Given the description of an element on the screen output the (x, y) to click on. 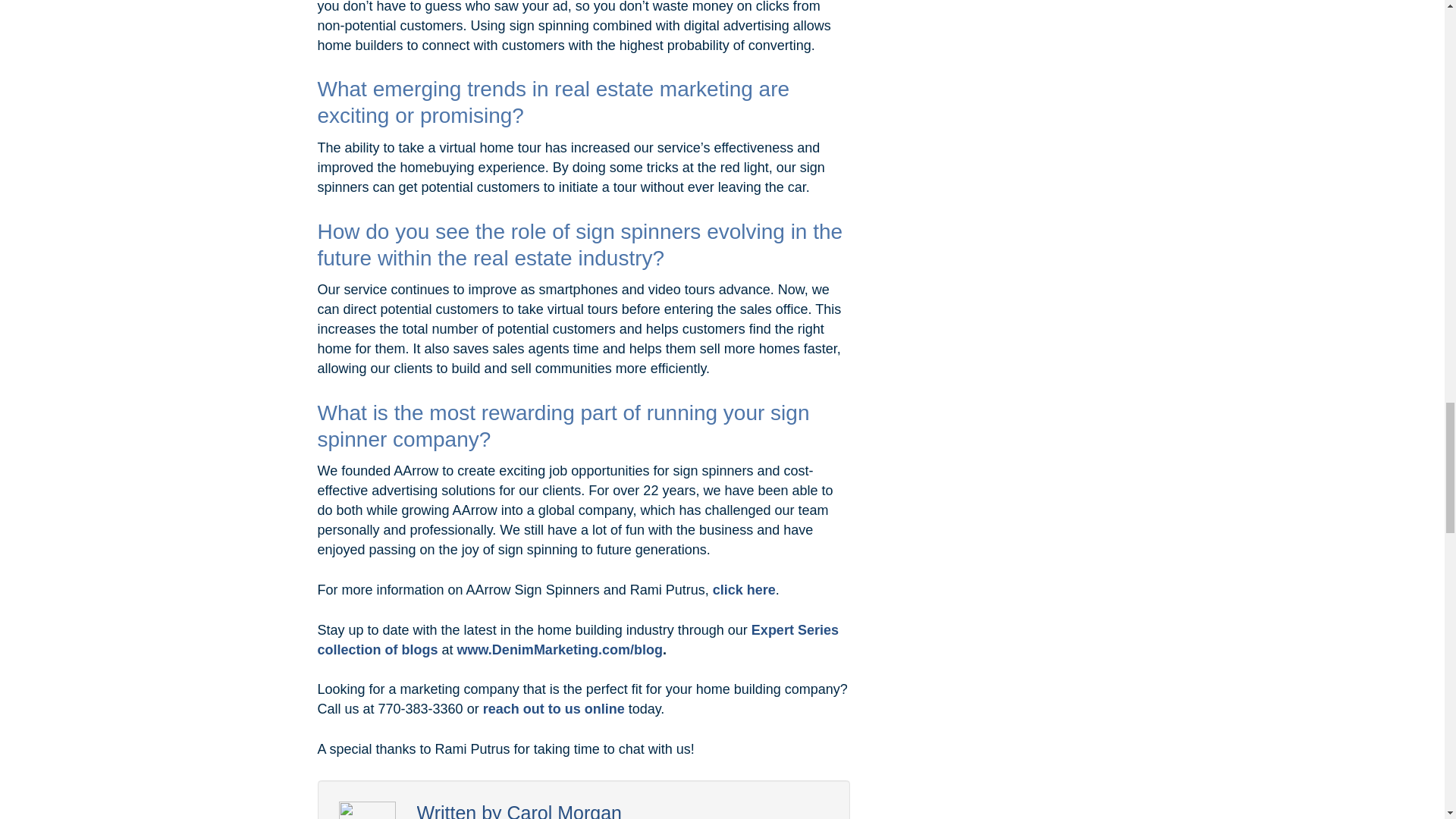
Expert Series collection of blogs (577, 639)
reach out to us online (553, 708)
click here (744, 589)
